Given the description of an element on the screen output the (x, y) to click on. 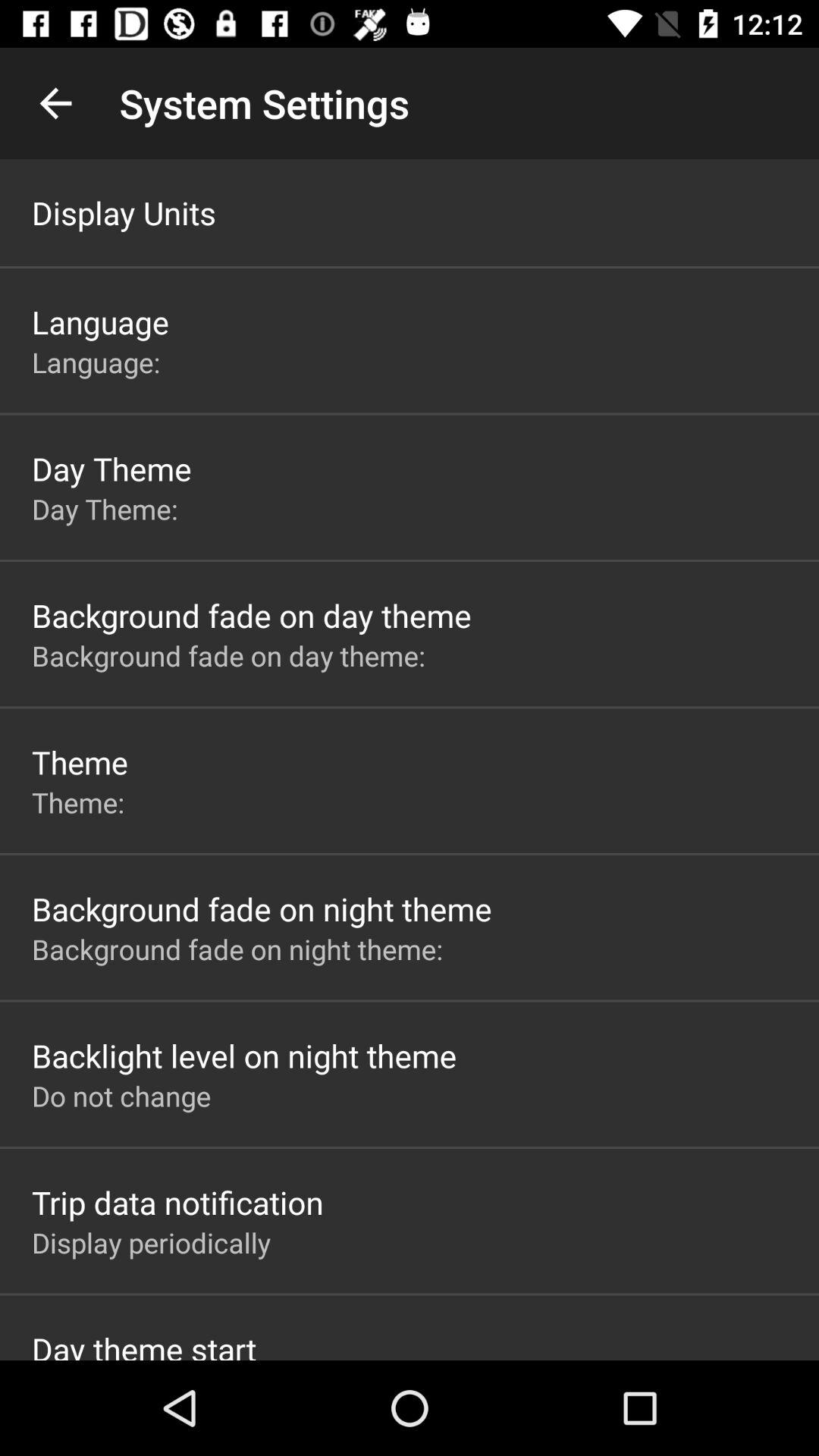
select the icon below the background fade on icon (243, 1055)
